Given the description of an element on the screen output the (x, y) to click on. 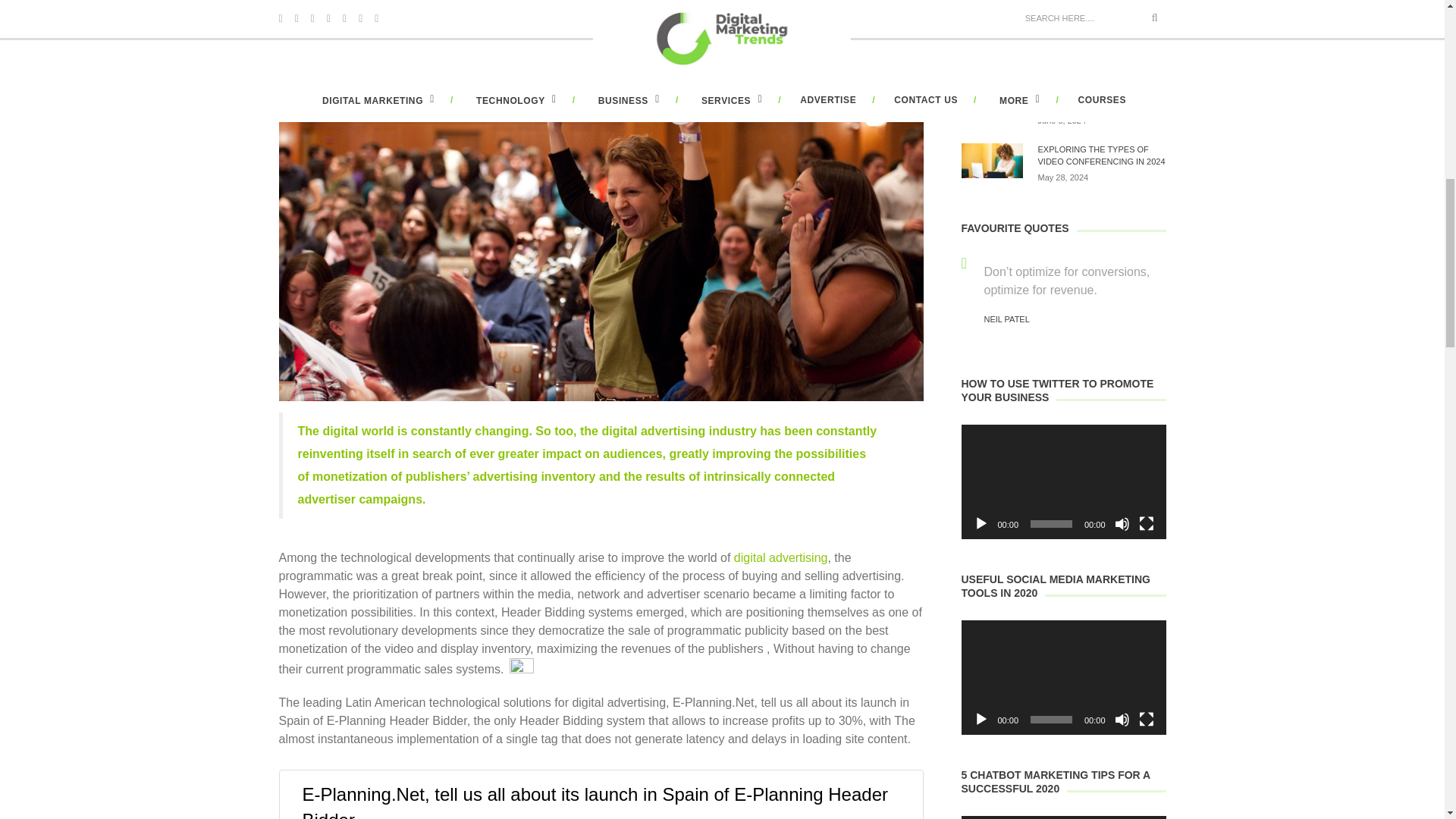
Fullscreen (1146, 523)
Play (981, 719)
Play (981, 523)
Mute (1122, 523)
Fullscreen (1146, 719)
Mute (1122, 719)
